Given the description of an element on the screen output the (x, y) to click on. 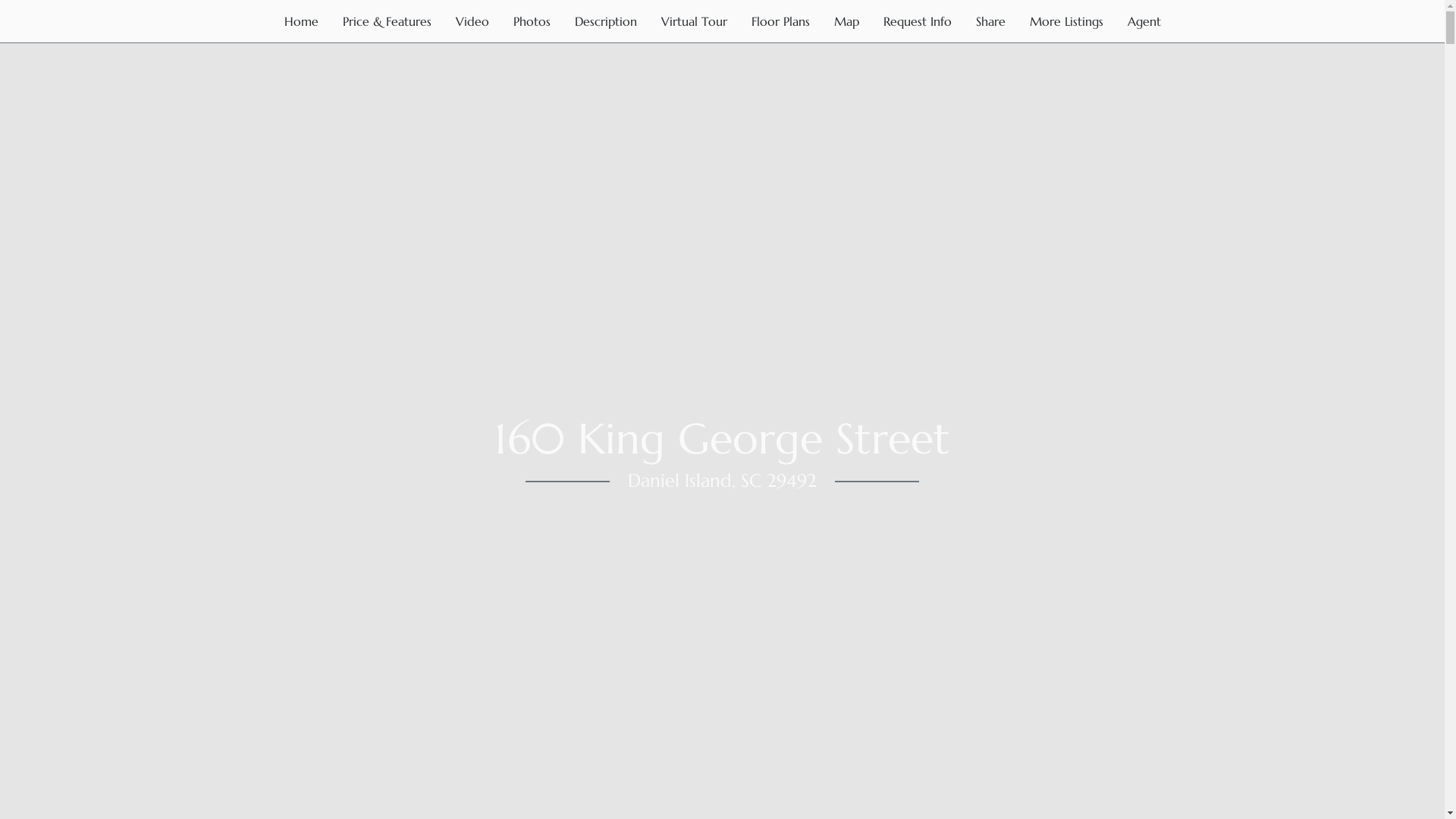
Photos Element type: text (530, 21)
Share Element type: text (989, 21)
Description Element type: text (605, 21)
Video Element type: text (471, 21)
Floor Plans Element type: text (779, 21)
Home Element type: text (300, 21)
More Listings Element type: text (1066, 21)
Price & Features Element type: text (386, 21)
Map Element type: text (846, 21)
Agent Element type: text (1143, 21)
Request Info Element type: text (916, 21)
Virtual Tour Element type: text (694, 21)
